Given the description of an element on the screen output the (x, y) to click on. 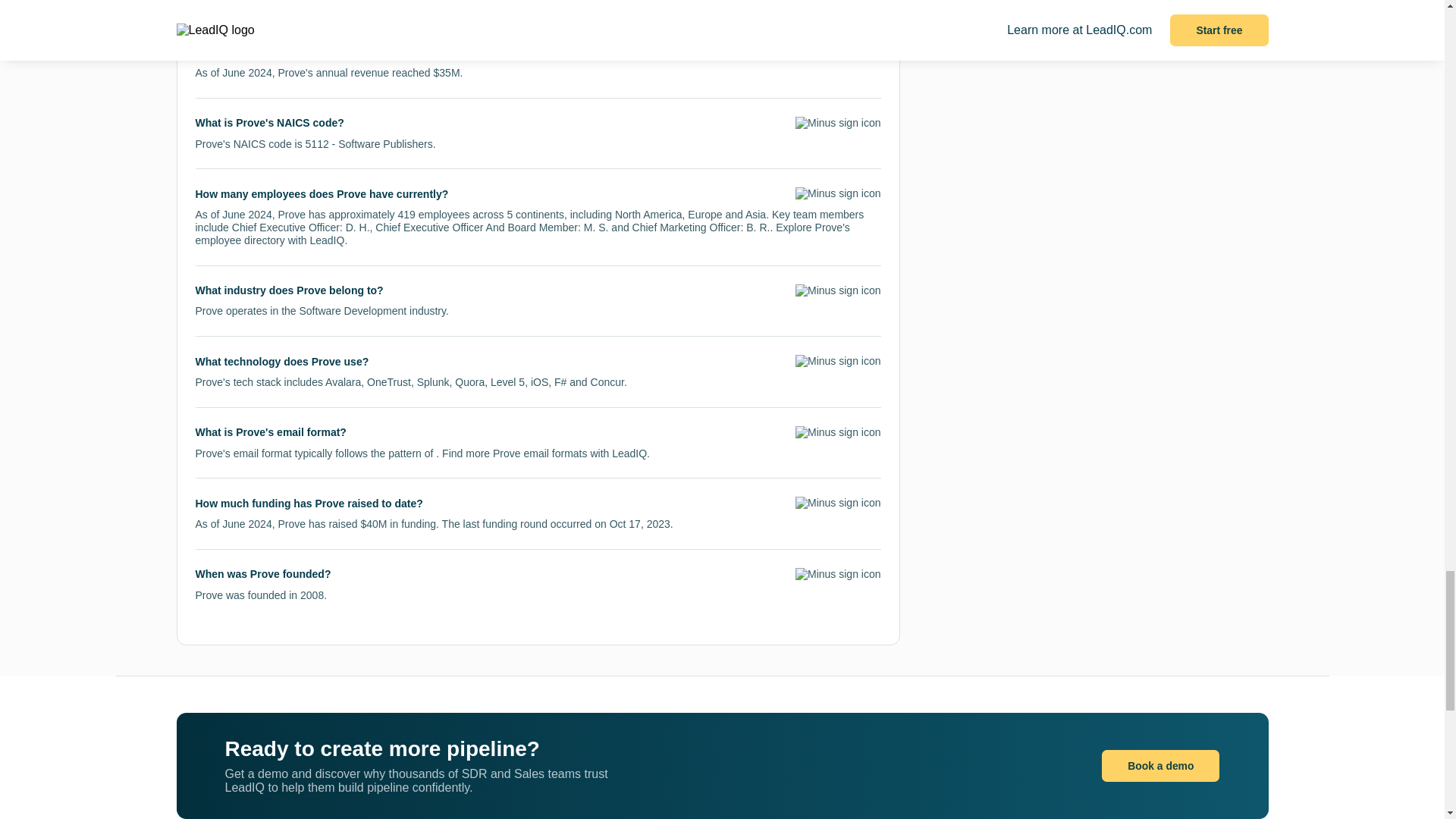
Find more Prove email formats (514, 453)
LinkedIn (510, 3)
Prove's employee directory (522, 233)
prove.com (340, 3)
